Given the description of an element on the screen output the (x, y) to click on. 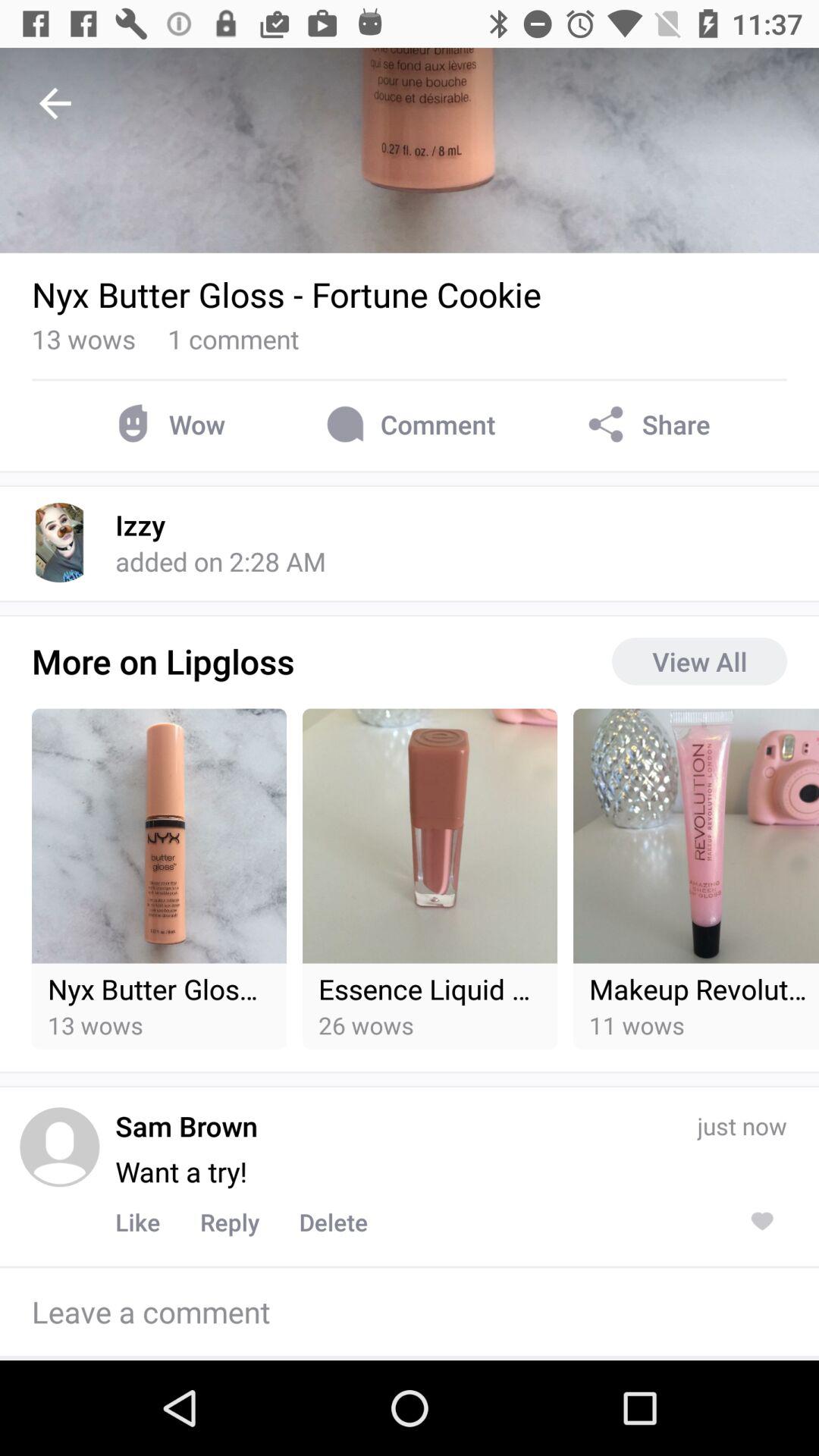
jump to wow item (166, 424)
